Given the description of an element on the screen output the (x, y) to click on. 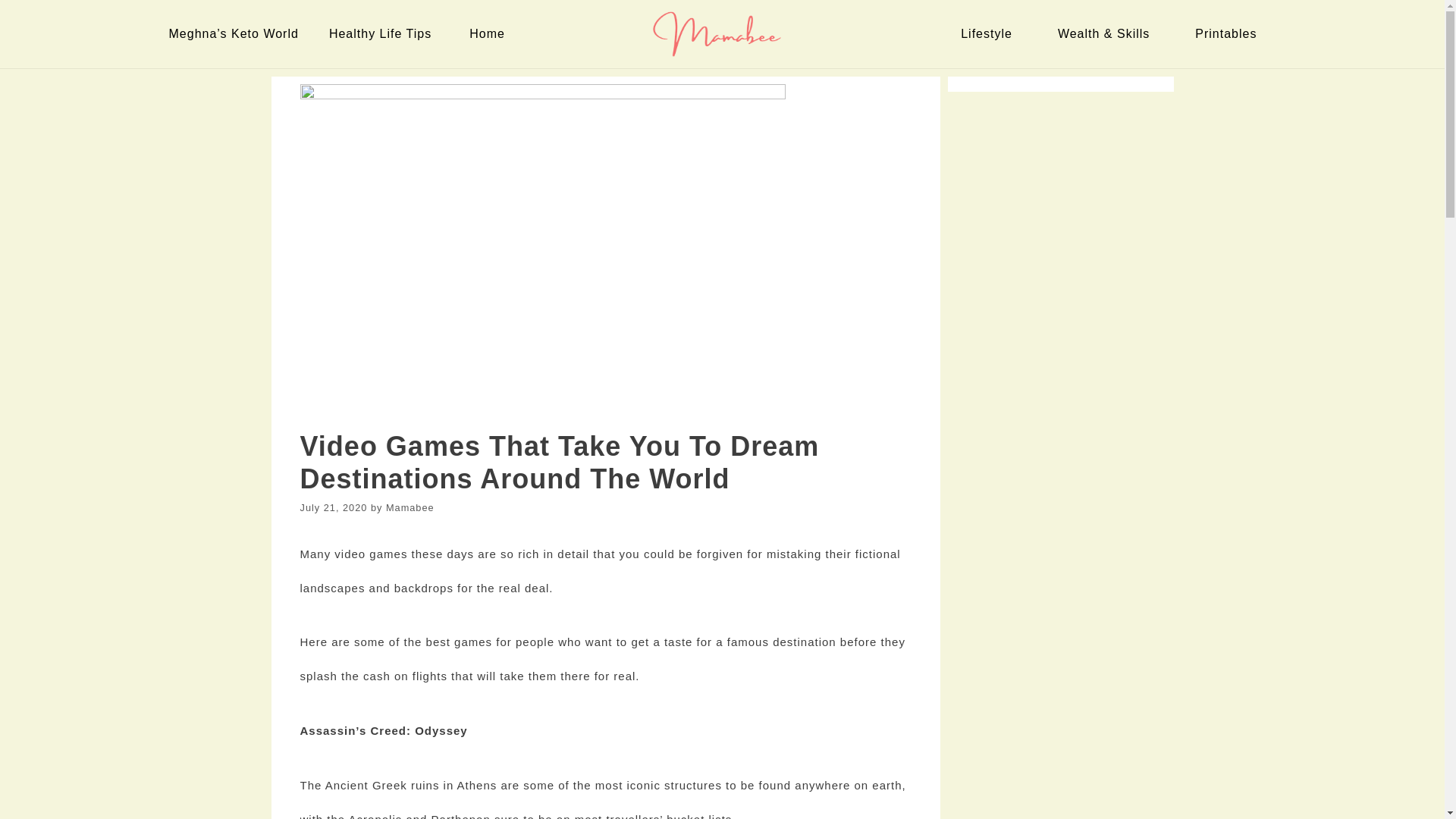
Home (490, 33)
View all posts by Mamabee (409, 507)
Healthy Life Tips (383, 33)
Lifestyle (989, 33)
